Given the description of an element on the screen output the (x, y) to click on. 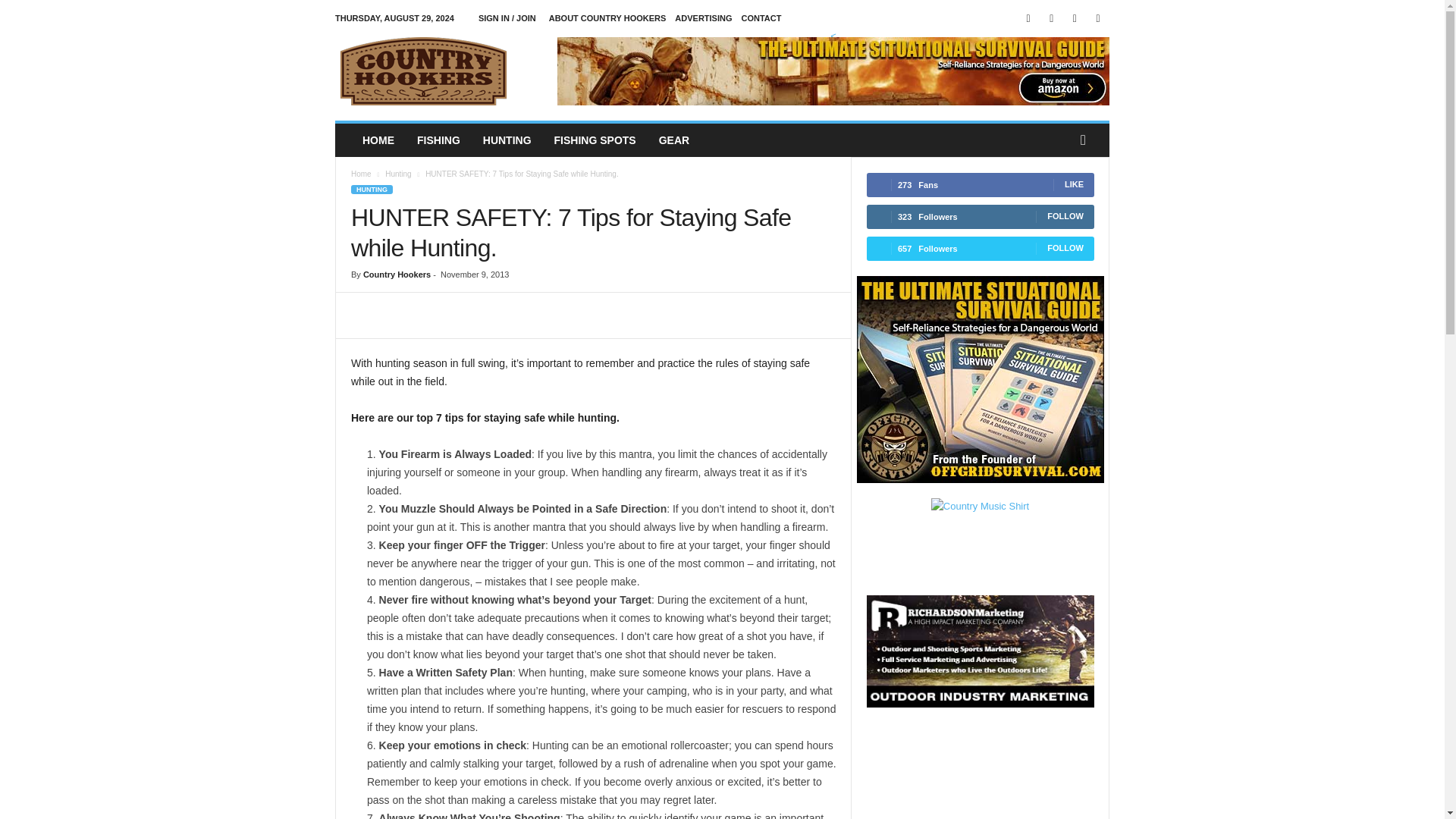
CONTACT (761, 17)
ADVERTISING (703, 17)
ABOUT COUNTRY HOOKERS (607, 17)
HOME (378, 140)
